Given the description of an element on the screen output the (x, y) to click on. 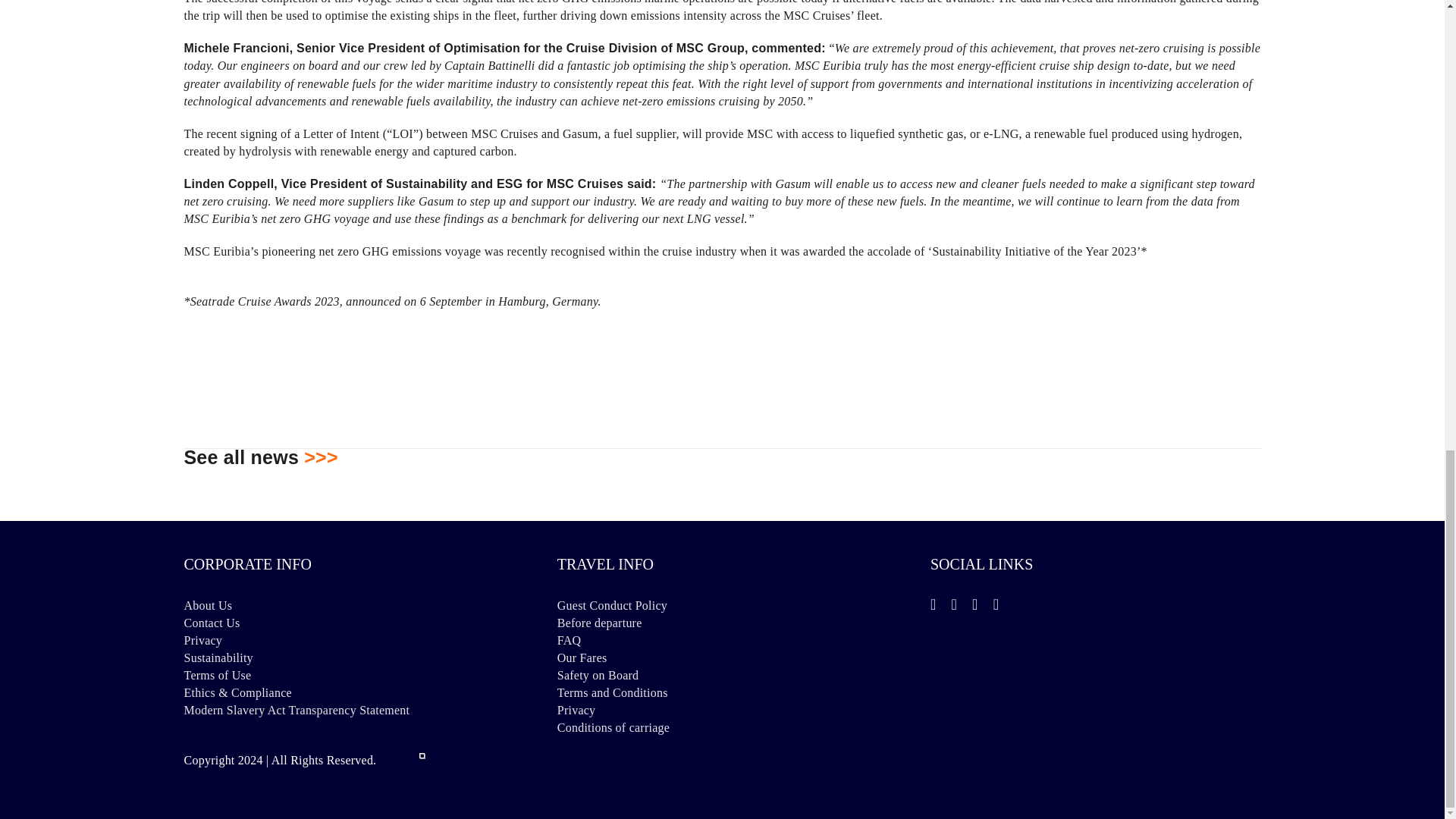
Contact Us (348, 622)
Privacy (348, 640)
About Us (348, 605)
